Given the description of an element on the screen output the (x, y) to click on. 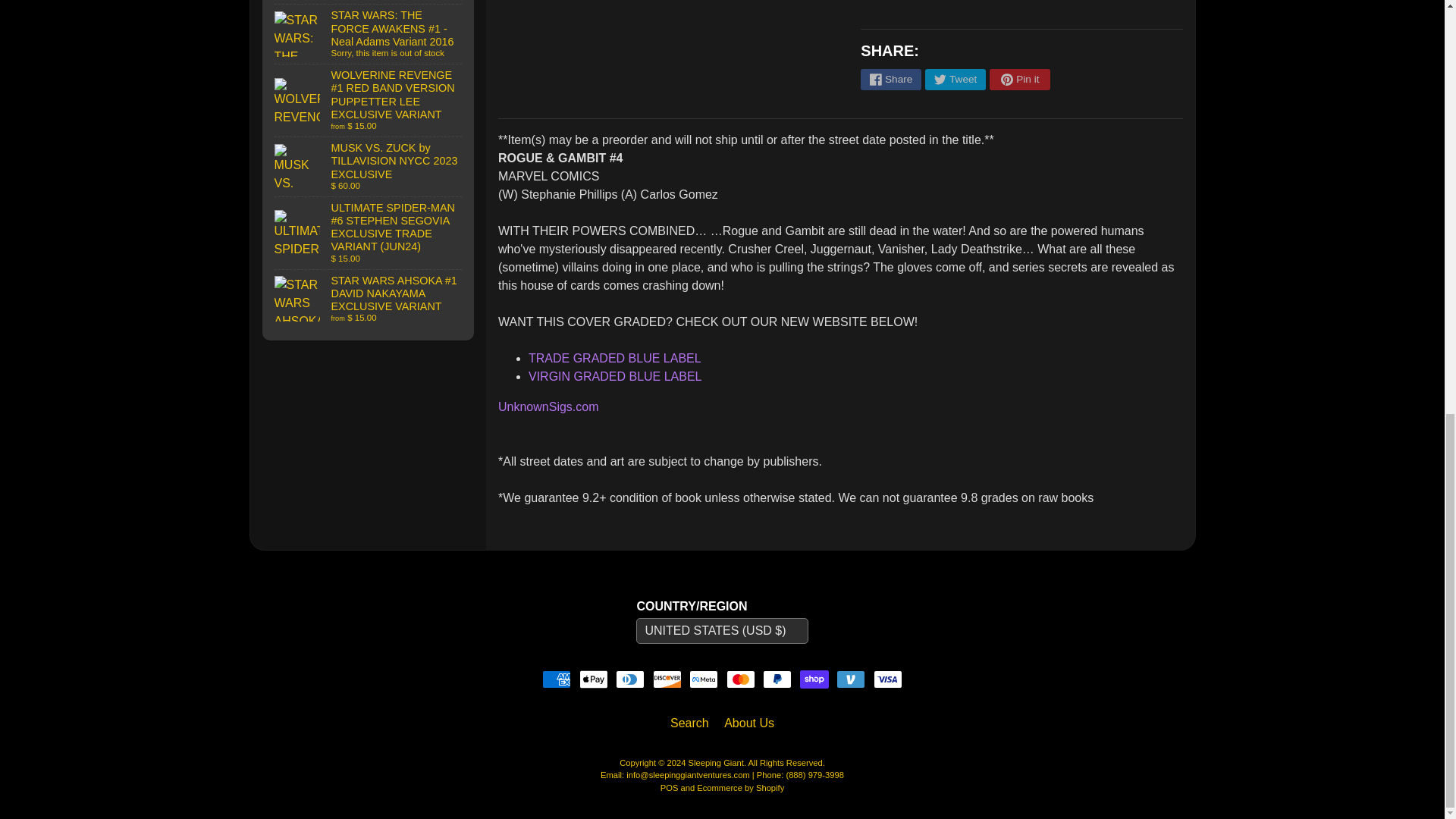
Visa (887, 679)
Diners Club (630, 679)
Meta Pay (702, 679)
Discover (666, 679)
Venmo (849, 679)
Shop Pay (813, 679)
MUSK VS. ZUCK by TILLAVISION NYCC 2023 EXCLUSIVE (369, 166)
Mastercard (740, 679)
Apple Pay (593, 679)
American Express (555, 679)
